Given the description of an element on the screen output the (x, y) to click on. 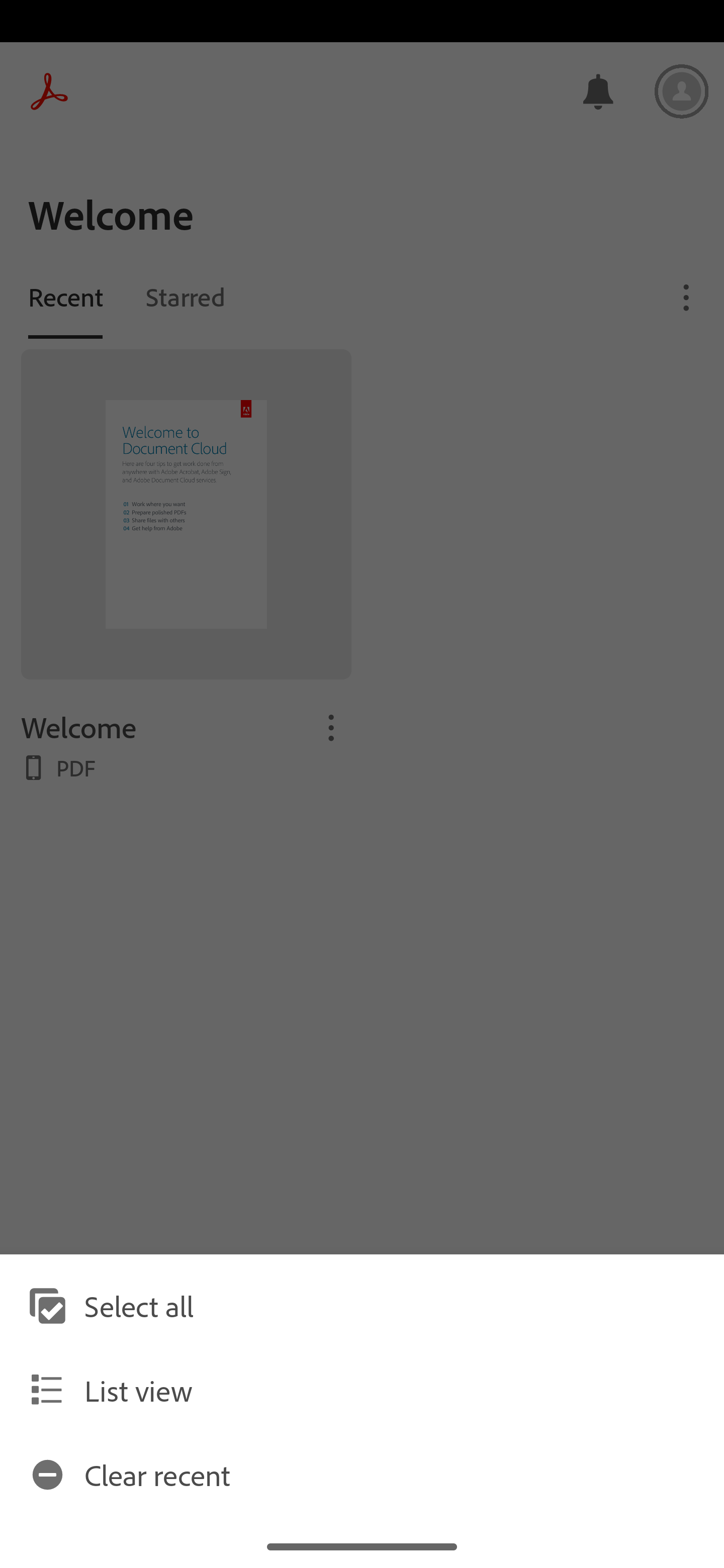
Select all (362, 1305)
List view (362, 1389)
Clear recent (362, 1473)
